Given the description of an element on the screen output the (x, y) to click on. 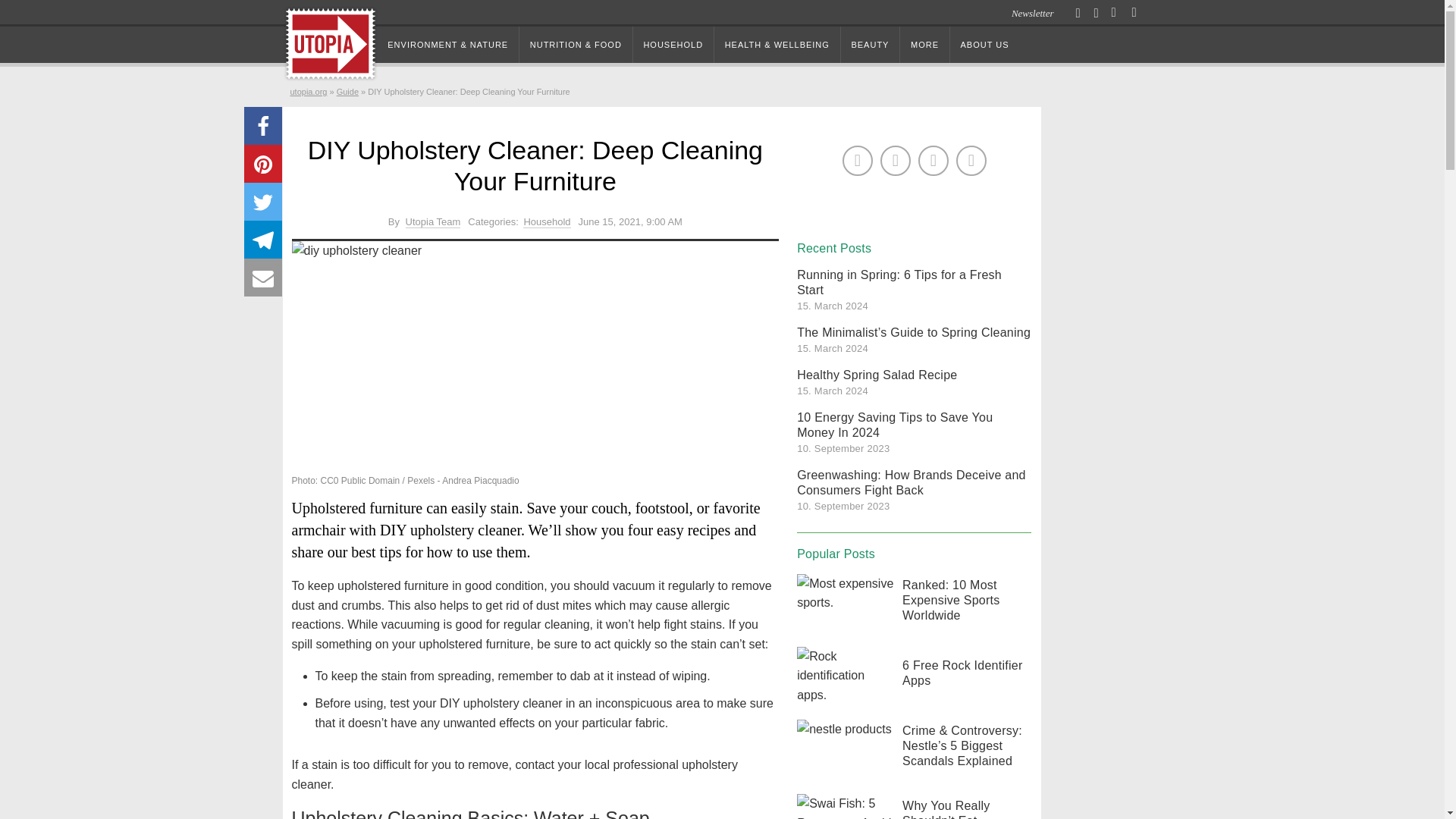
Share on Facebook (263, 125)
HOUSEHOLD (673, 44)
Pin on Pinterest (263, 163)
Tweet on Twitter (263, 201)
Posts by Utopia Team (433, 222)
Share by Email (263, 277)
BEAUTY (870, 44)
Household (546, 222)
Utopia Team (433, 222)
Share on Telegram (263, 239)
